Given the description of an element on the screen output the (x, y) to click on. 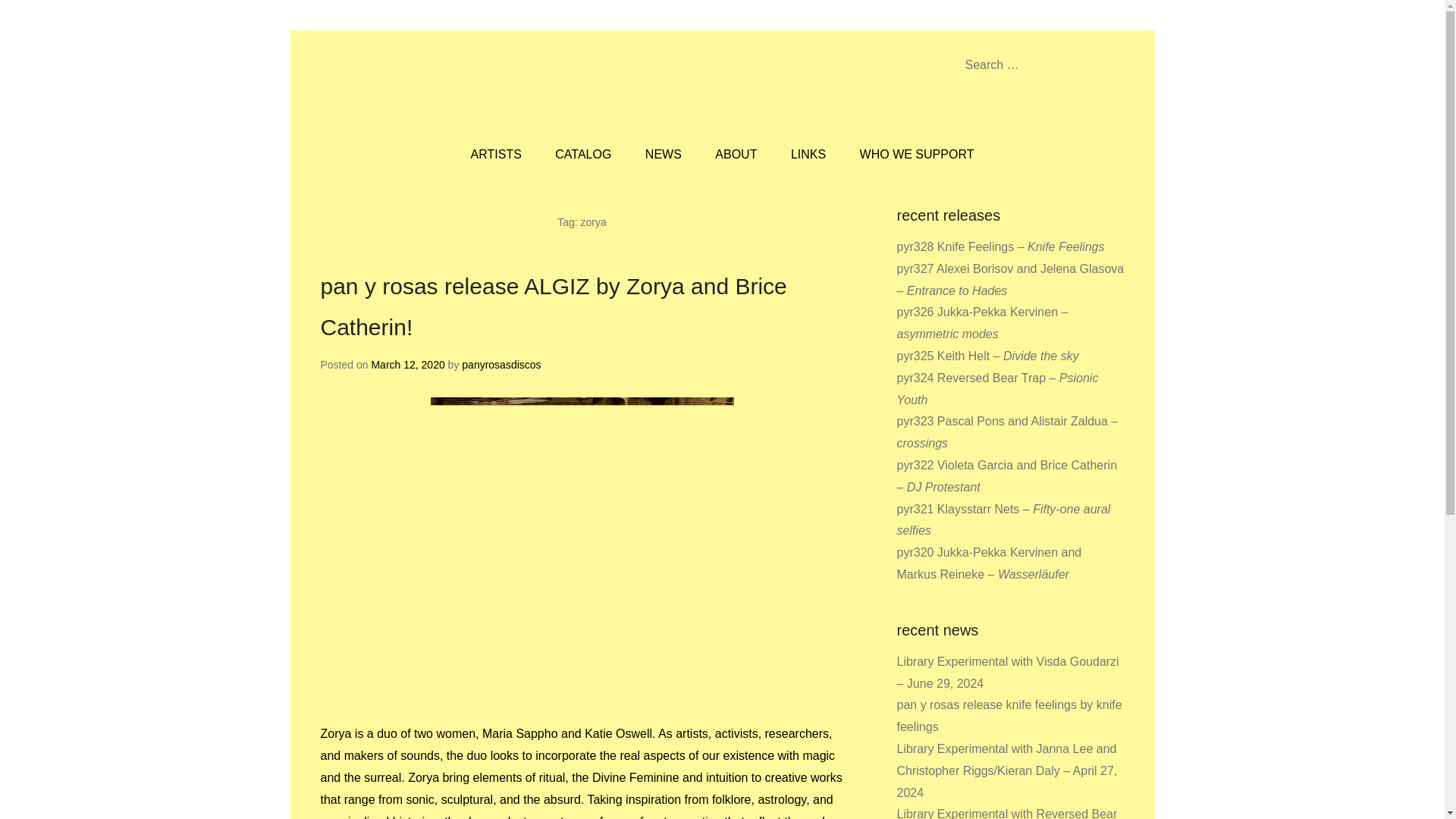
View all posts by panyrosasdiscos (500, 364)
pan y rosas release ALGIZ by Zorya and Brice Catherin! (553, 306)
10:52 am (407, 364)
pan y rosas release knife feelings by knife feelings (1008, 715)
panyrosasdiscos (500, 364)
ABOUT (735, 154)
CATALOG (583, 154)
pan y rosas discos (490, 87)
March 12, 2020 (407, 364)
NEWS (663, 154)
Search (32, 15)
LINKS (808, 154)
WHO WE SUPPORT (917, 154)
ARTISTS (496, 154)
